Given the description of an element on the screen output the (x, y) to click on. 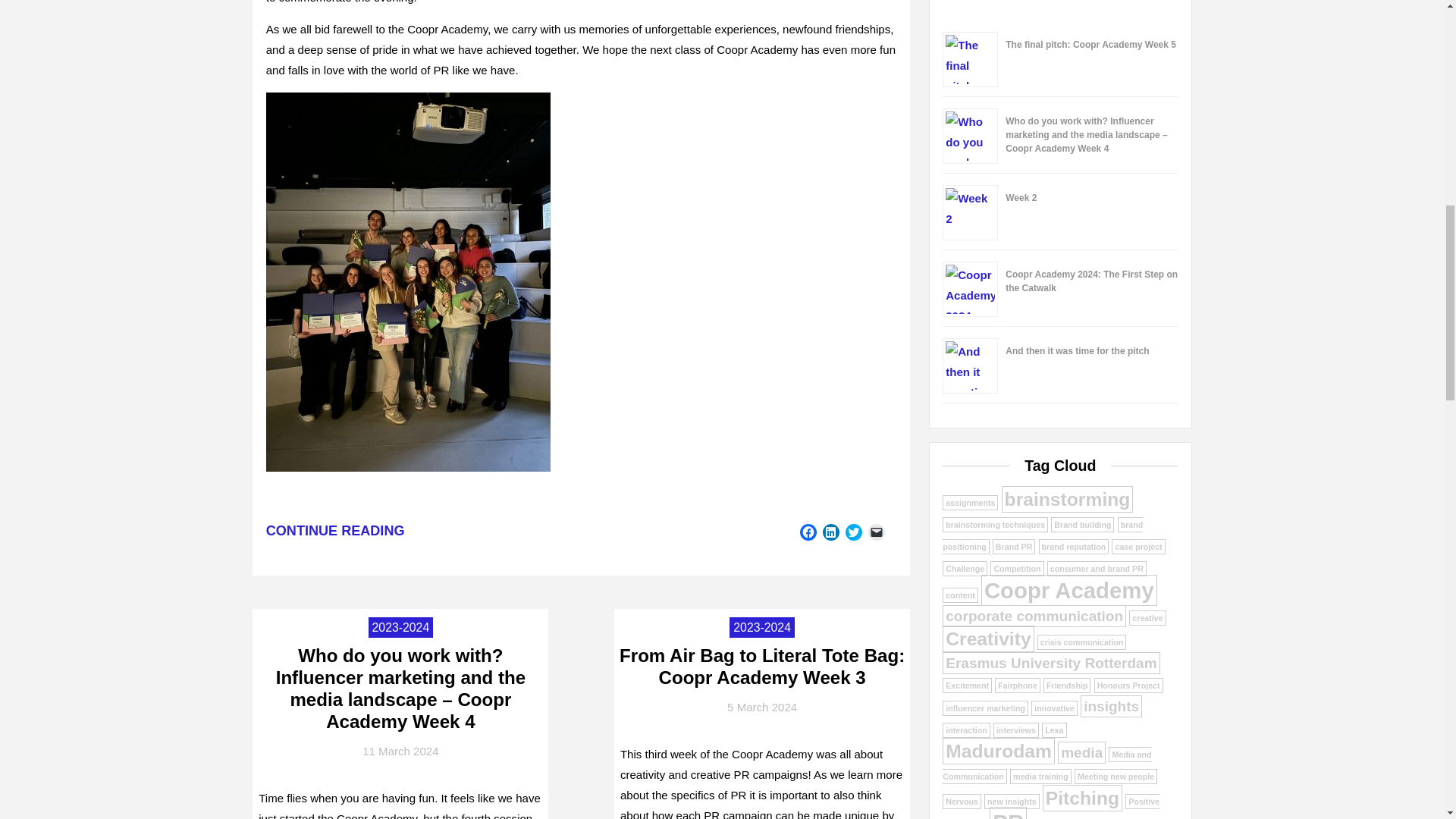
The final pitch: Coopr Academy Week 5 (1091, 44)
Week 2 (1021, 197)
Click to share on Facebook (807, 532)
From Air Bag to Literal Tote Bag: Coopr Academy Week 3 (762, 666)
Click to share on LinkedIn (831, 532)
Coopr Academy 2024: The First Step on the Catwalk (1091, 281)
Click to email a link to a friend (876, 532)
assignments (969, 502)
And then it was time for the pitch (1077, 350)
CONTINUE READING (335, 530)
